Given the description of an element on the screen output the (x, y) to click on. 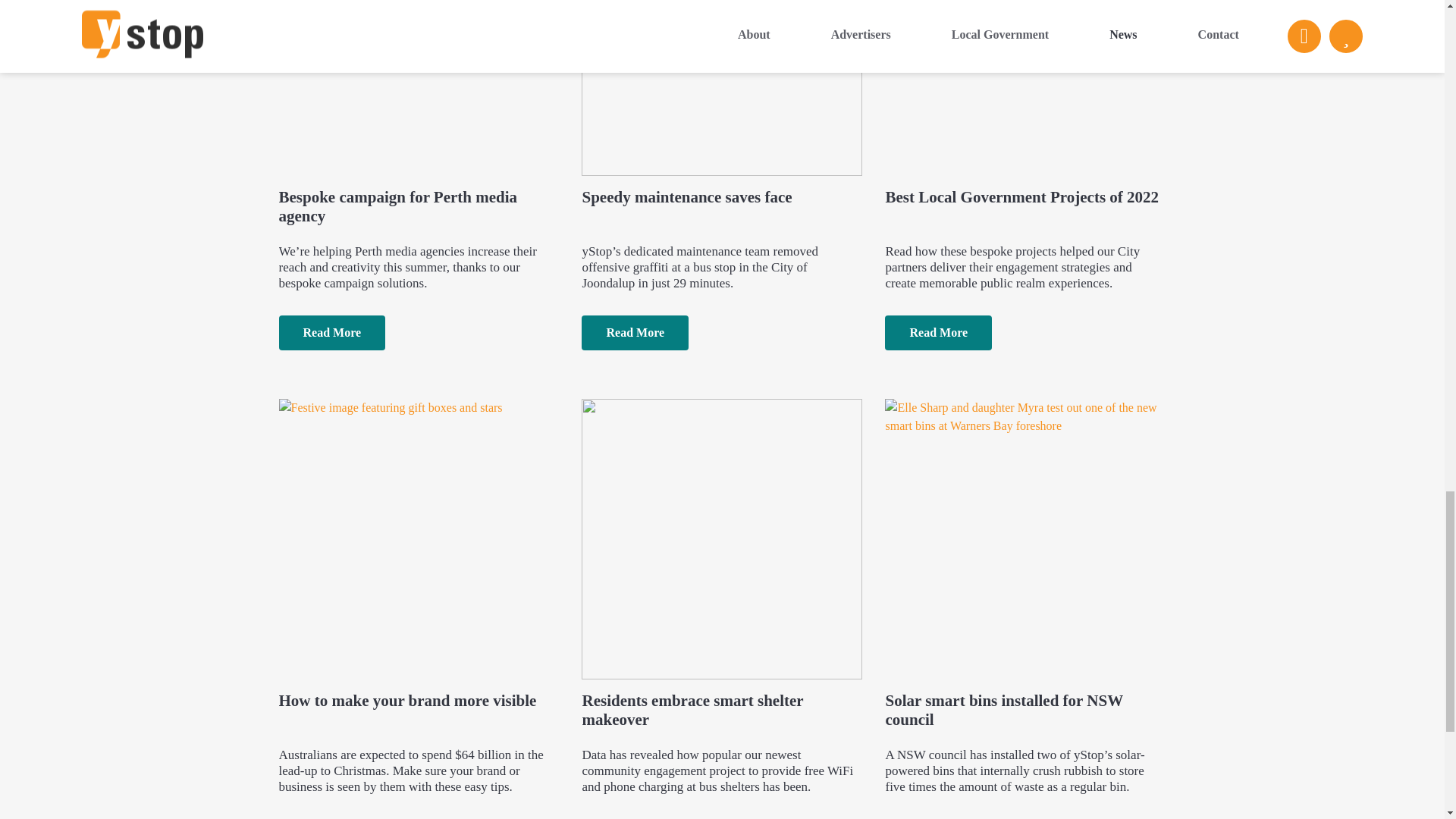
Read More (634, 332)
Read More (332, 332)
Read More (938, 332)
Bespoke campaign for Perth media agency (419, 113)
Speedy maintenance saves face (720, 113)
Best Local Government Projects of 2022 (1025, 113)
Best Local Government Projects of 2022 (1025, 113)
Bespoke campaign for Perth media agency (419, 113)
Speedy maintenance saves face (720, 113)
